Given the description of an element on the screen output the (x, y) to click on. 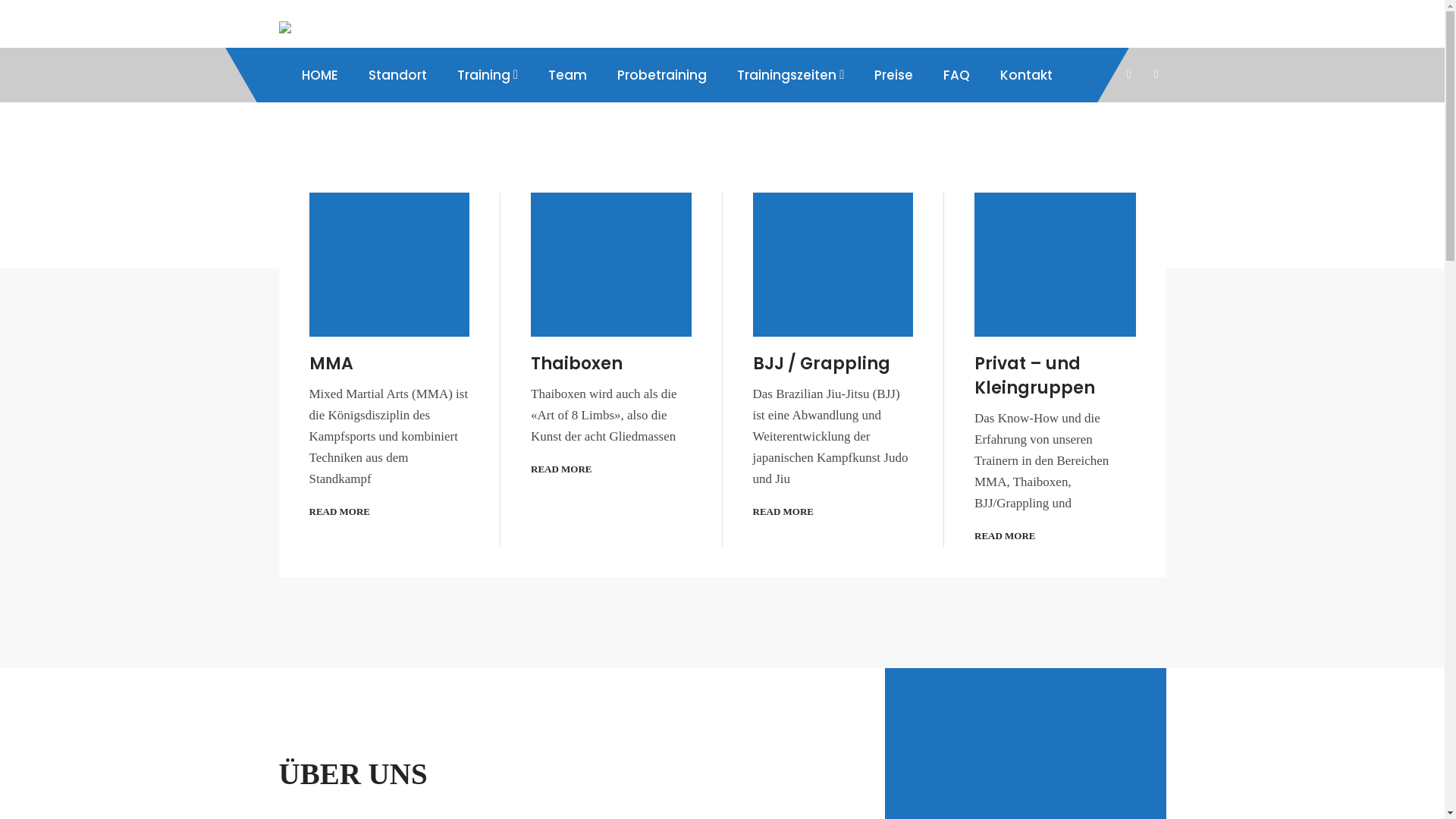
Top of Page Element type: hover (1407, 784)
MMA Element type: text (389, 363)
READ MORE Element type: text (1004, 535)
BJJ / Grappling Element type: text (832, 363)
Thaiboxen Element type: text (610, 363)
READ MORE Element type: text (339, 511)
READ MORE Element type: text (782, 511)
READ MORE Element type: text (561, 469)
Kontakt Element type: text (1026, 74)
Preise Element type: text (893, 74)
Trainingszeiten Element type: text (790, 74)
FAQ Element type: text (956, 74)
Team Element type: text (567, 74)
Probetraining Element type: text (661, 74)
HOME Element type: text (319, 74)
Training Element type: text (486, 74)
Standort Element type: text (397, 74)
